Given the description of an element on the screen output the (x, y) to click on. 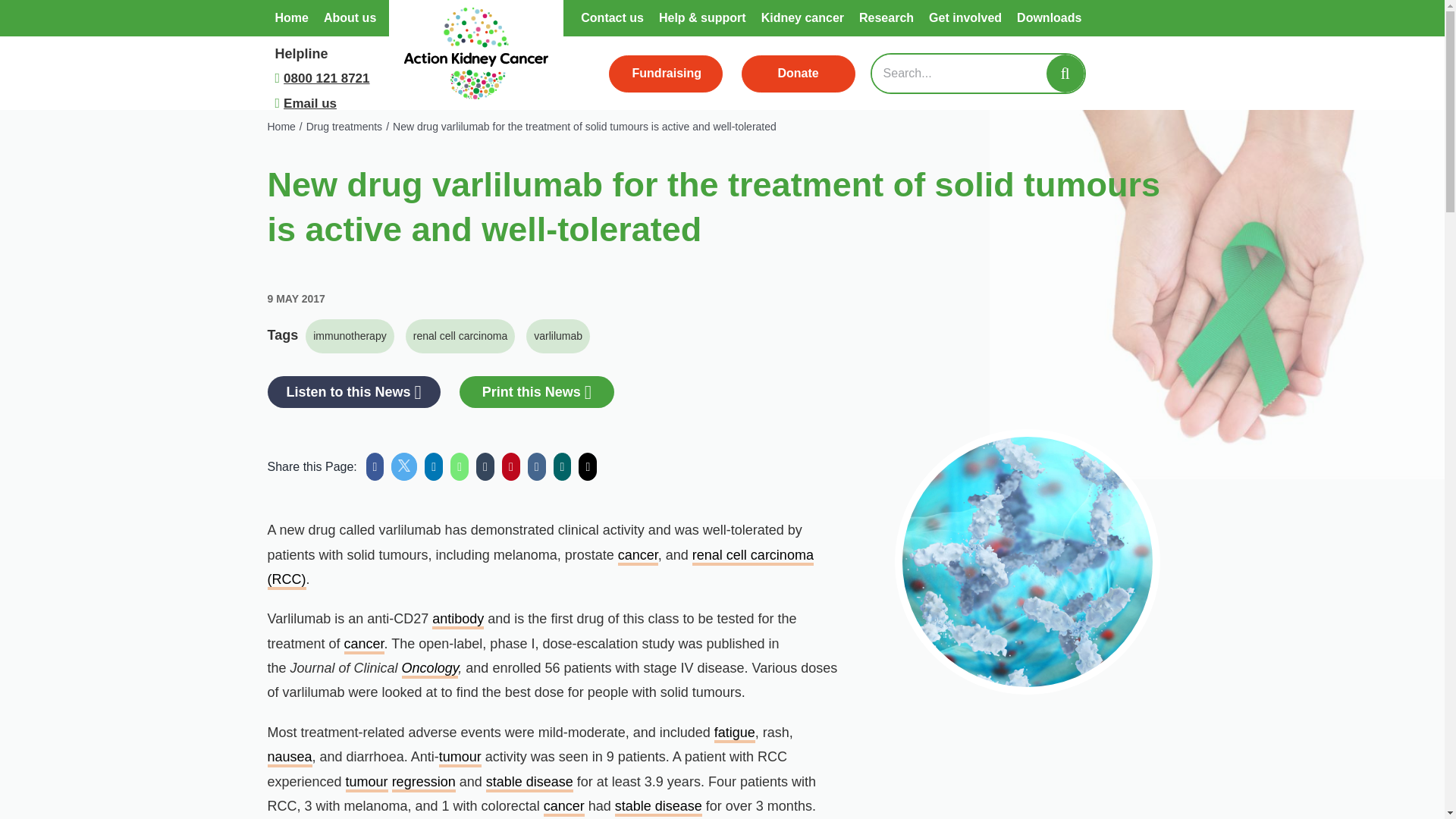
Downloads (1048, 18)
Kidney cancer (802, 18)
About us (349, 18)
Drug treatments (343, 126)
0800 121 8721 (326, 78)
Research (886, 18)
Home (280, 126)
Twitter (403, 466)
Fundraising (665, 73)
Get involved (964, 18)
